Given the description of an element on the screen output the (x, y) to click on. 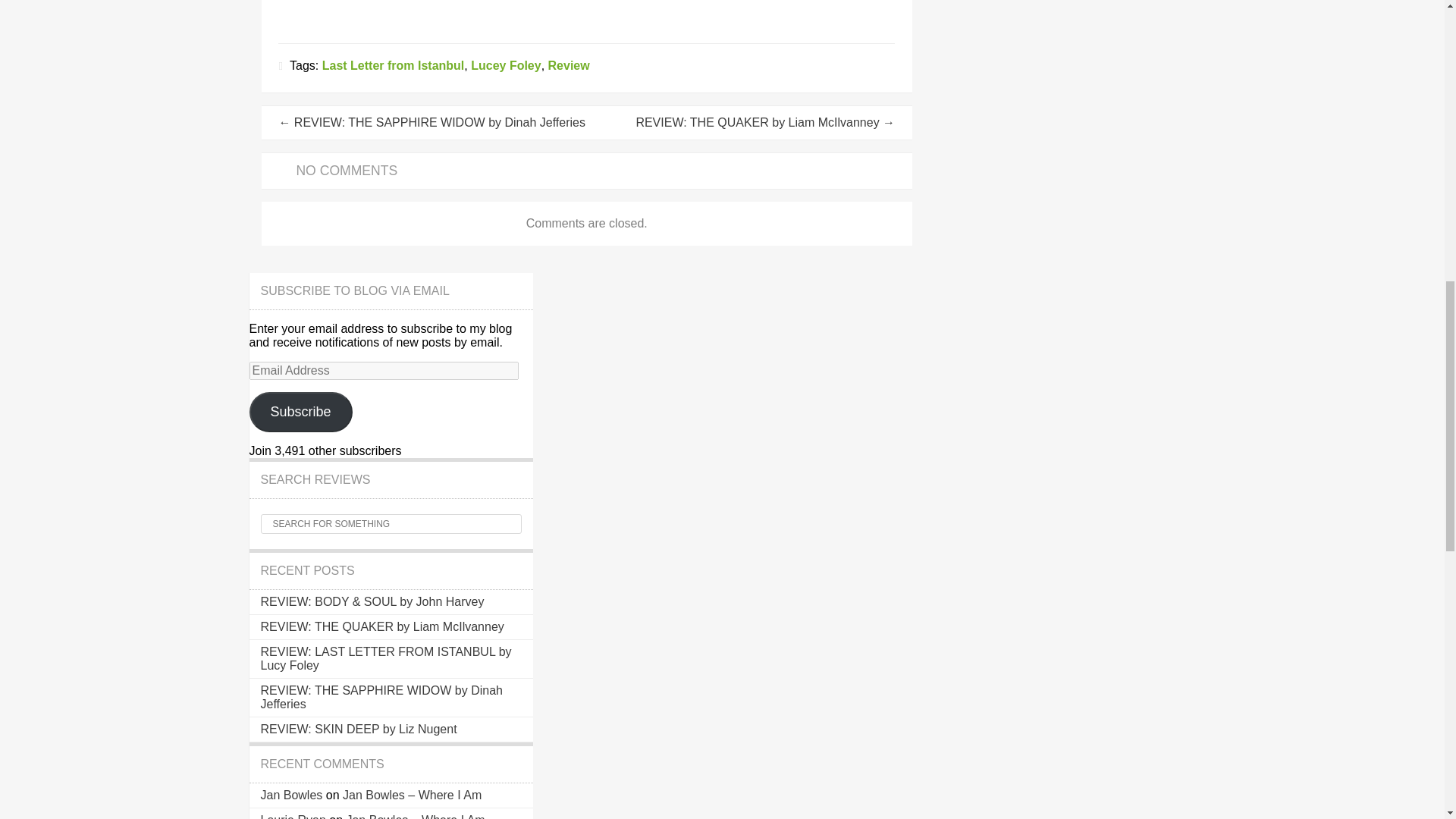
Last Letter from Istanbul (392, 65)
Laurie Ryan (293, 816)
Review (568, 65)
REVIEW: THE QUAKER by Liam McIlvanney (381, 626)
Subscribe (300, 412)
Jan Bowles (291, 794)
Lucey Foley (505, 65)
REVIEW: THE SAPPHIRE WIDOW by Dinah Jefferies (381, 696)
REVIEW: SKIN DEEP by Liz Nugent (358, 728)
REVIEW: LAST LETTER FROM ISTANBUL by Lucy Foley (386, 658)
